Given the description of an element on the screen output the (x, y) to click on. 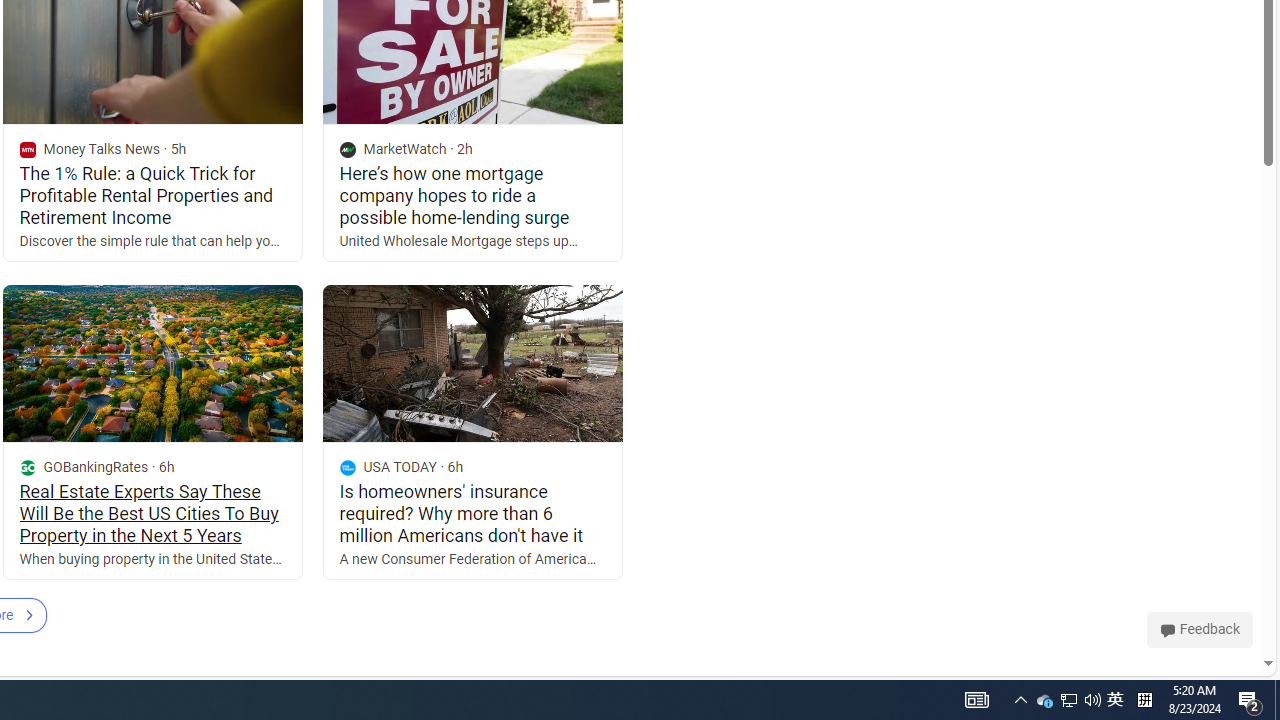
Class: index-module__image--a7f677 (472, 363)
Class: index-module__icon--92f11c (347, 467)
